Given the description of an element on the screen output the (x, y) to click on. 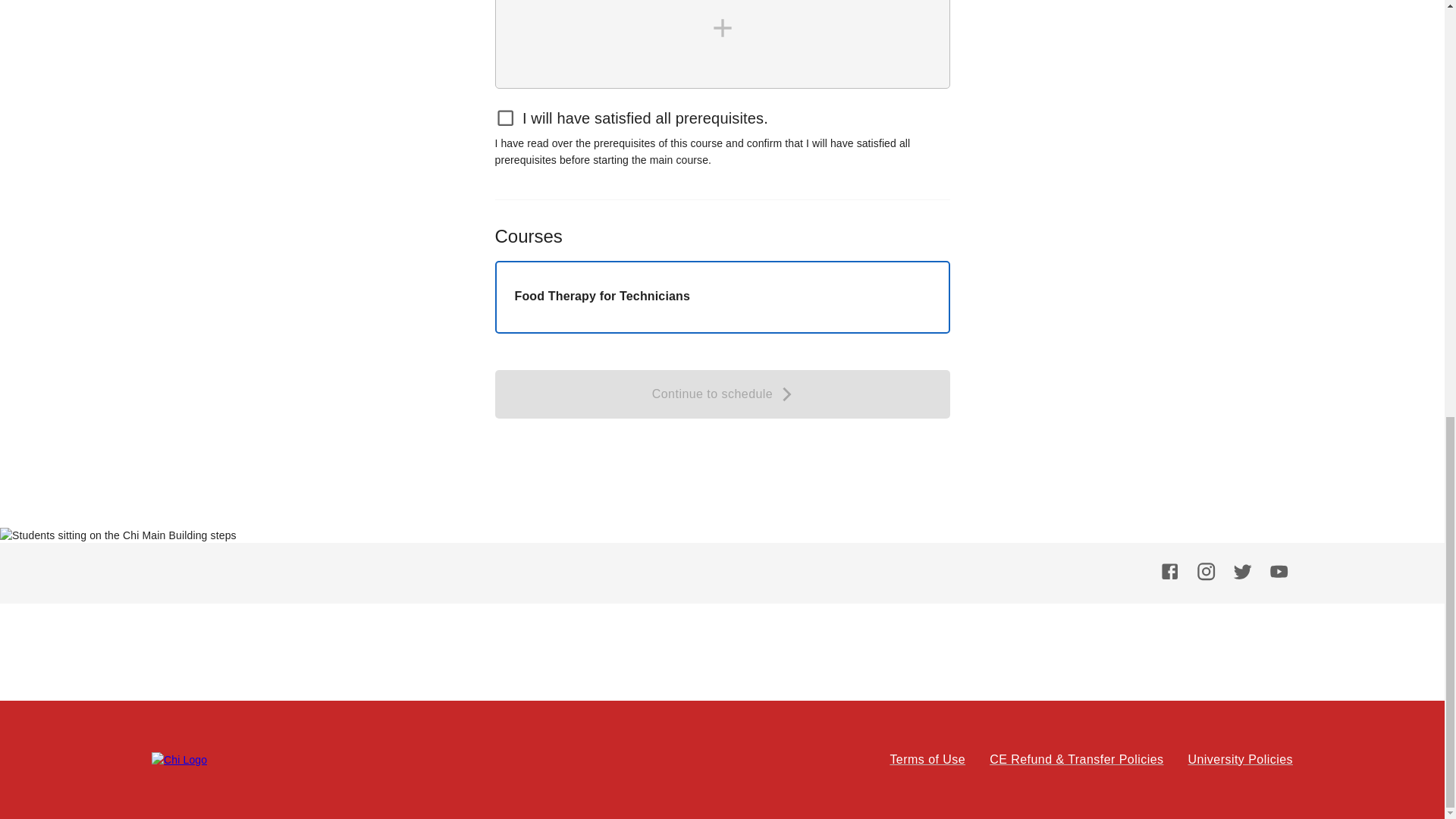
Food Therapy for Technicians (722, 297)
Terms of Use (927, 759)
University Policies (1240, 759)
Continue to schedule (722, 394)
